Given the description of an element on the screen output the (x, y) to click on. 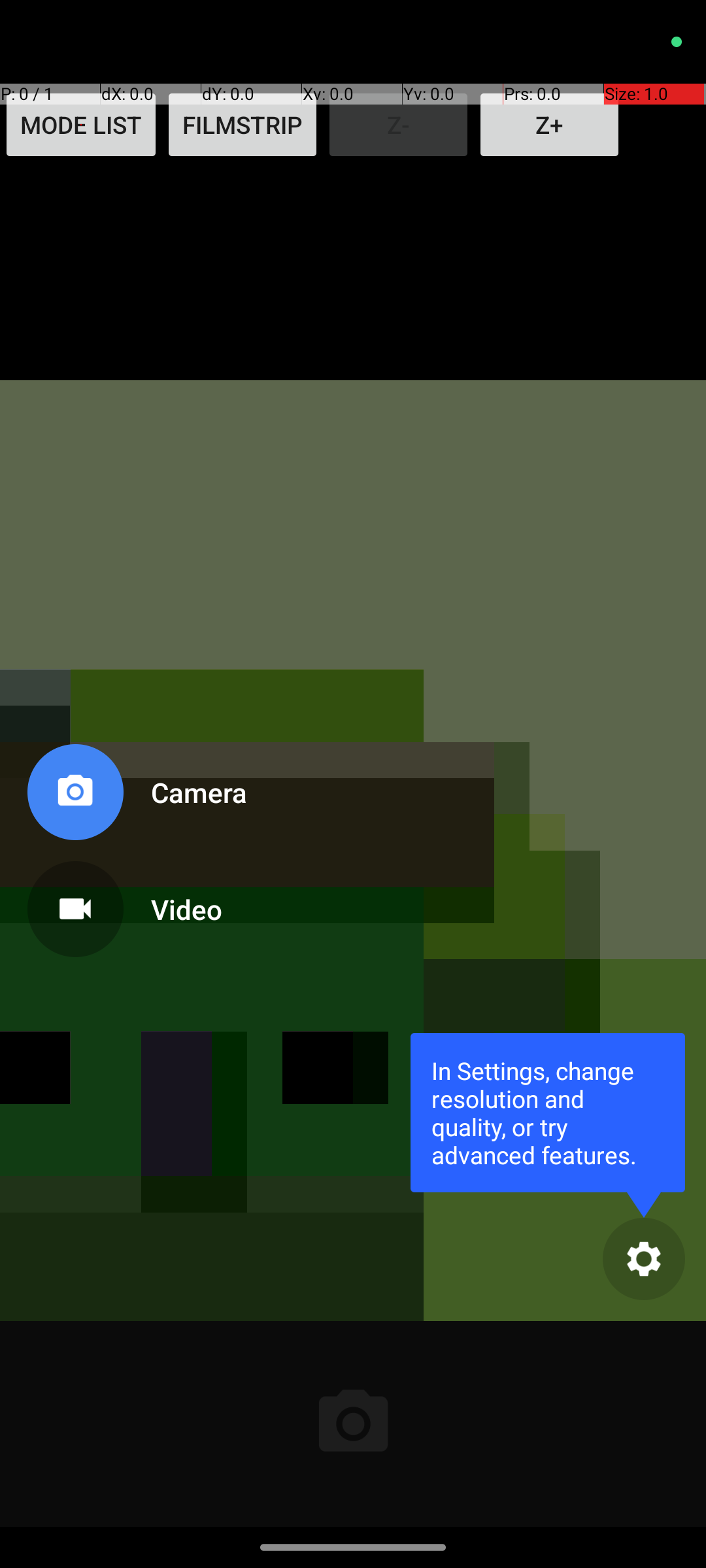
Switch to Camera Mode Element type: android.widget.FrameLayout (134, 797)
Switch to Video Camera Element type: android.widget.FrameLayout (134, 903)
In Settings, change resolution and quality, or try advanced features. Element type: android.widget.TextView (547, 1112)
